Given the description of an element on the screen output the (x, y) to click on. 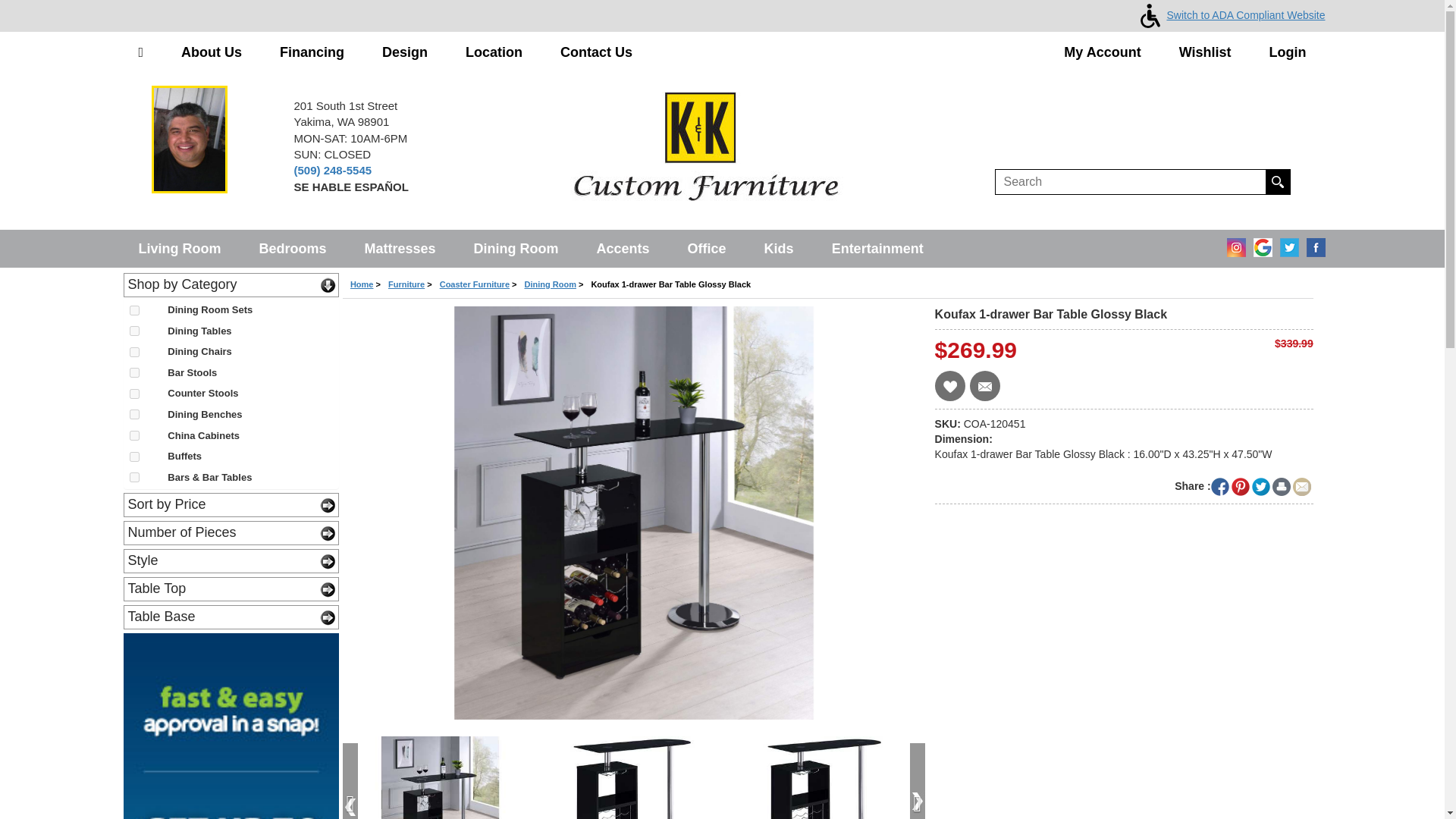
My Account (1101, 52)
212 (133, 414)
Wishlist (1205, 52)
207 (133, 330)
Instagram (1233, 243)
211 (133, 456)
Switch to ADA Compliant Website (1229, 15)
24 (133, 372)
213 (133, 477)
Facebook (1311, 243)
209 (133, 393)
208 (133, 352)
Go to ADA Compliant Website (1229, 15)
About Us (210, 52)
